Given the description of an element on the screen output the (x, y) to click on. 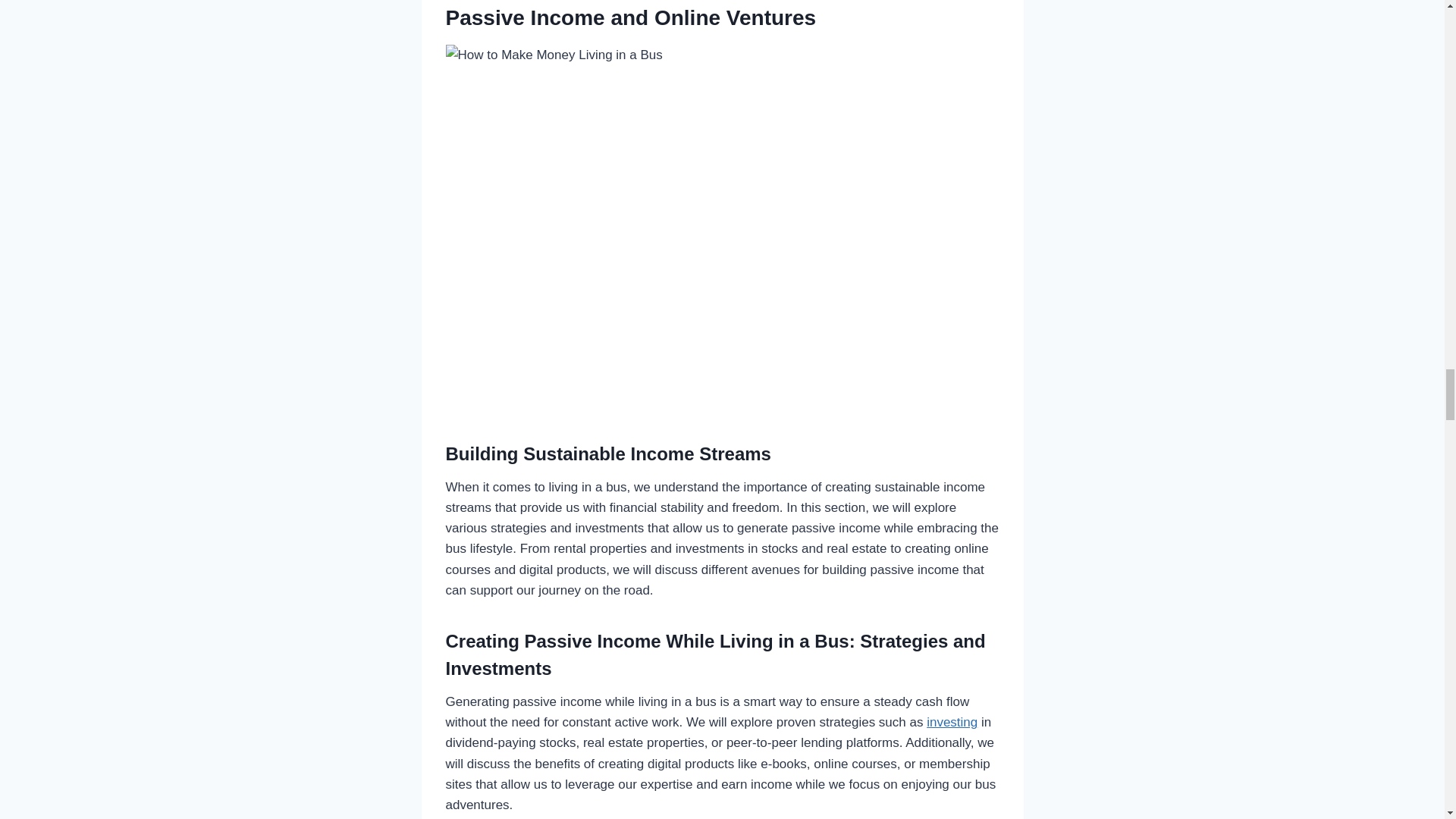
investing (951, 721)
investing (951, 721)
